Given the description of an element on the screen output the (x, y) to click on. 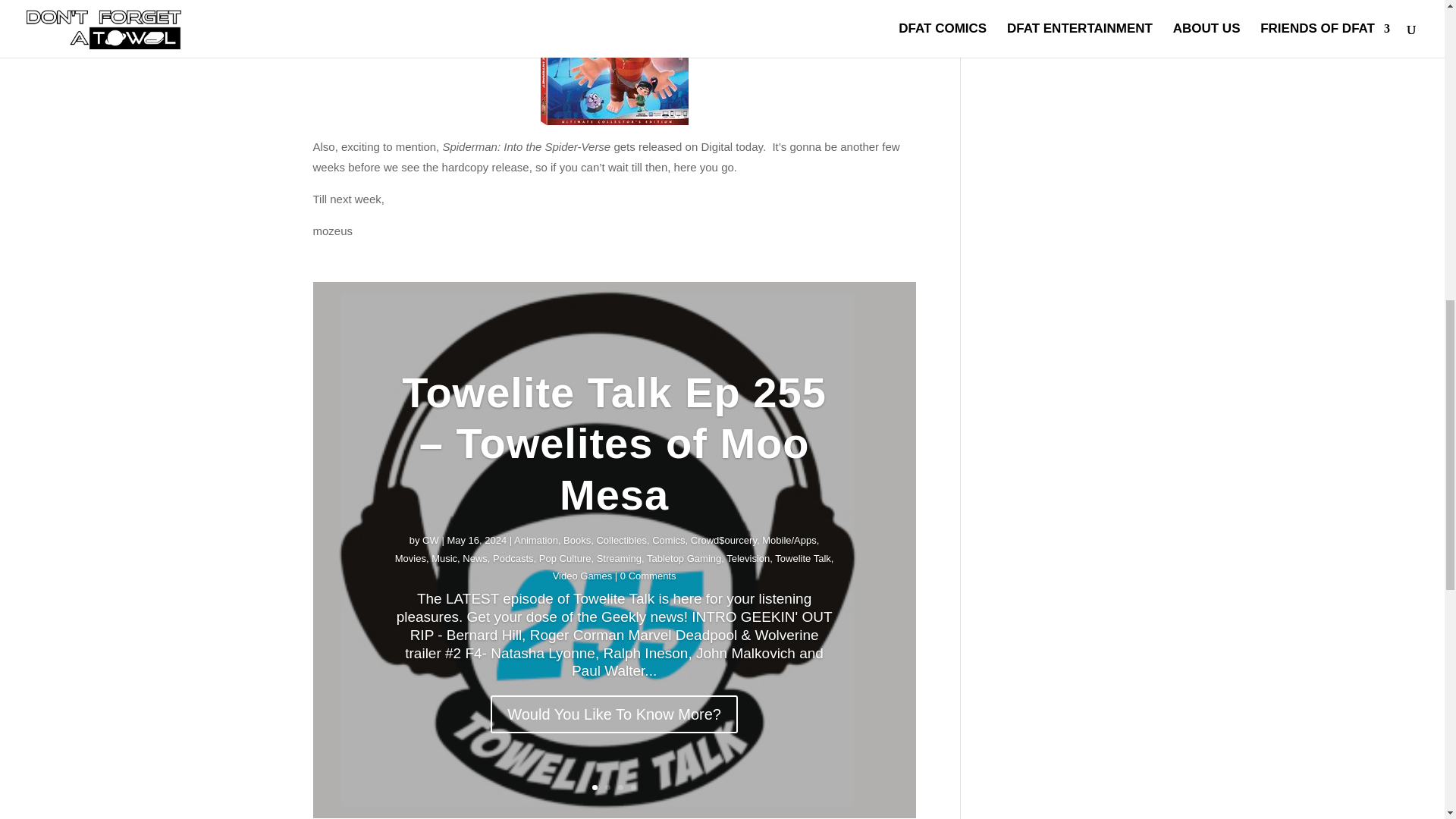
Tabletop Gaming (683, 606)
Podcasts (512, 609)
Music (443, 611)
Streaming (619, 607)
Pop Culture (564, 608)
Movies (410, 611)
Television (748, 603)
Posts by CW (430, 574)
News (475, 610)
